Given the description of an element on the screen output the (x, y) to click on. 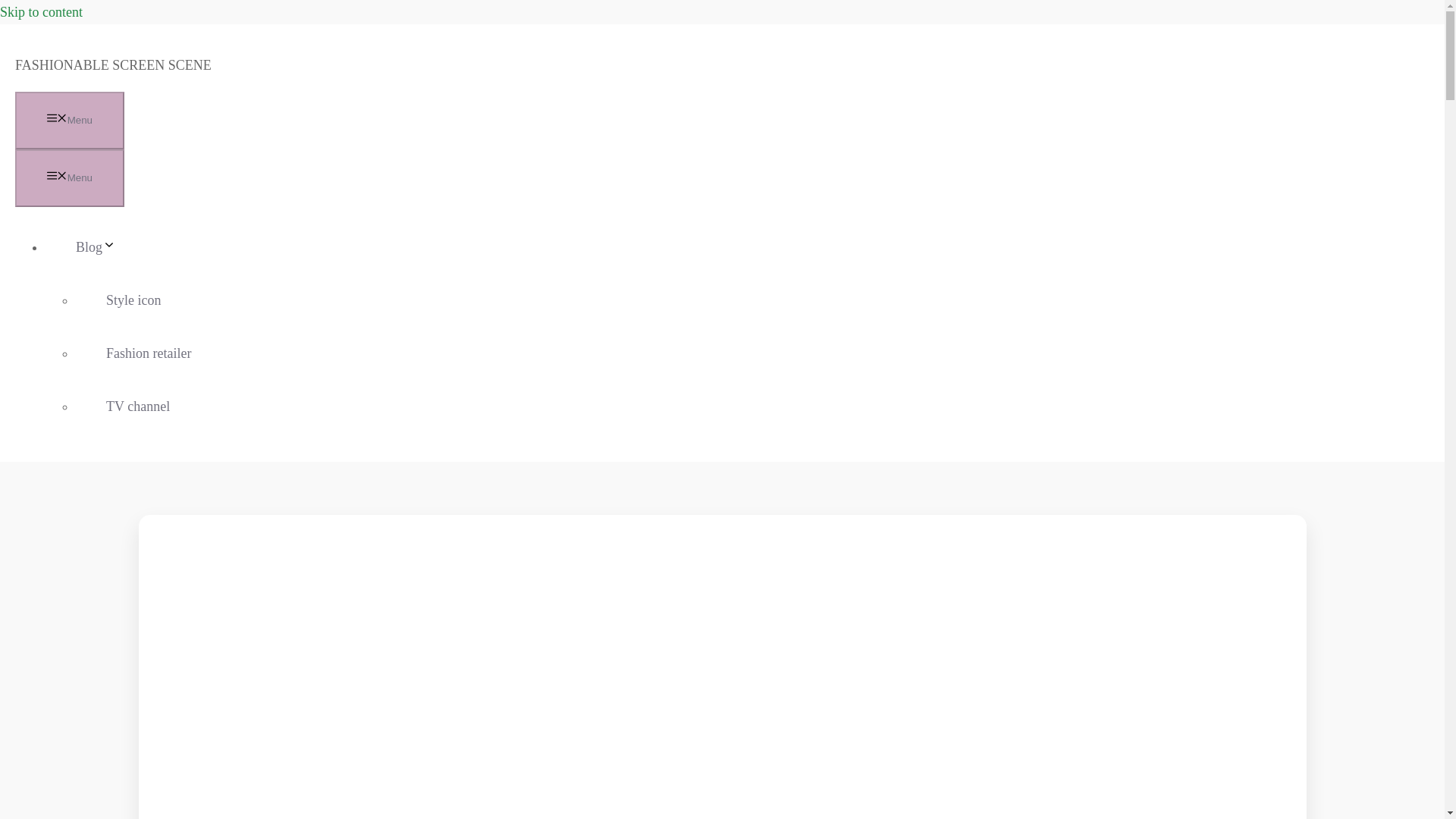
Skip to content (41, 11)
FASHIONABLE SCREEN SCENE (112, 64)
Menu (68, 178)
Skip to content (41, 11)
Style icon (133, 299)
Blog (110, 246)
Menu (68, 120)
Fashion retailer (148, 352)
TV channel (137, 406)
